Given the description of an element on the screen output the (x, y) to click on. 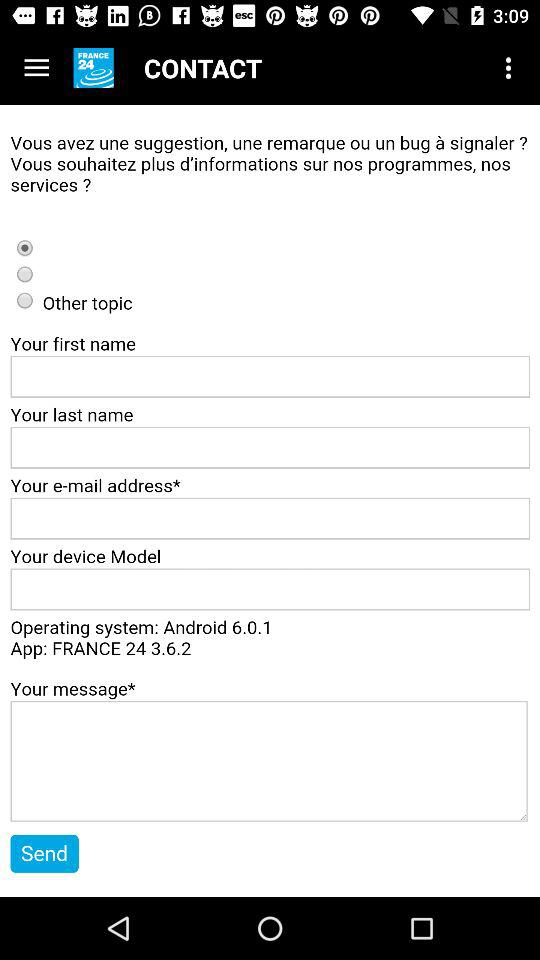
menu (36, 68)
